Given the description of an element on the screen output the (x, y) to click on. 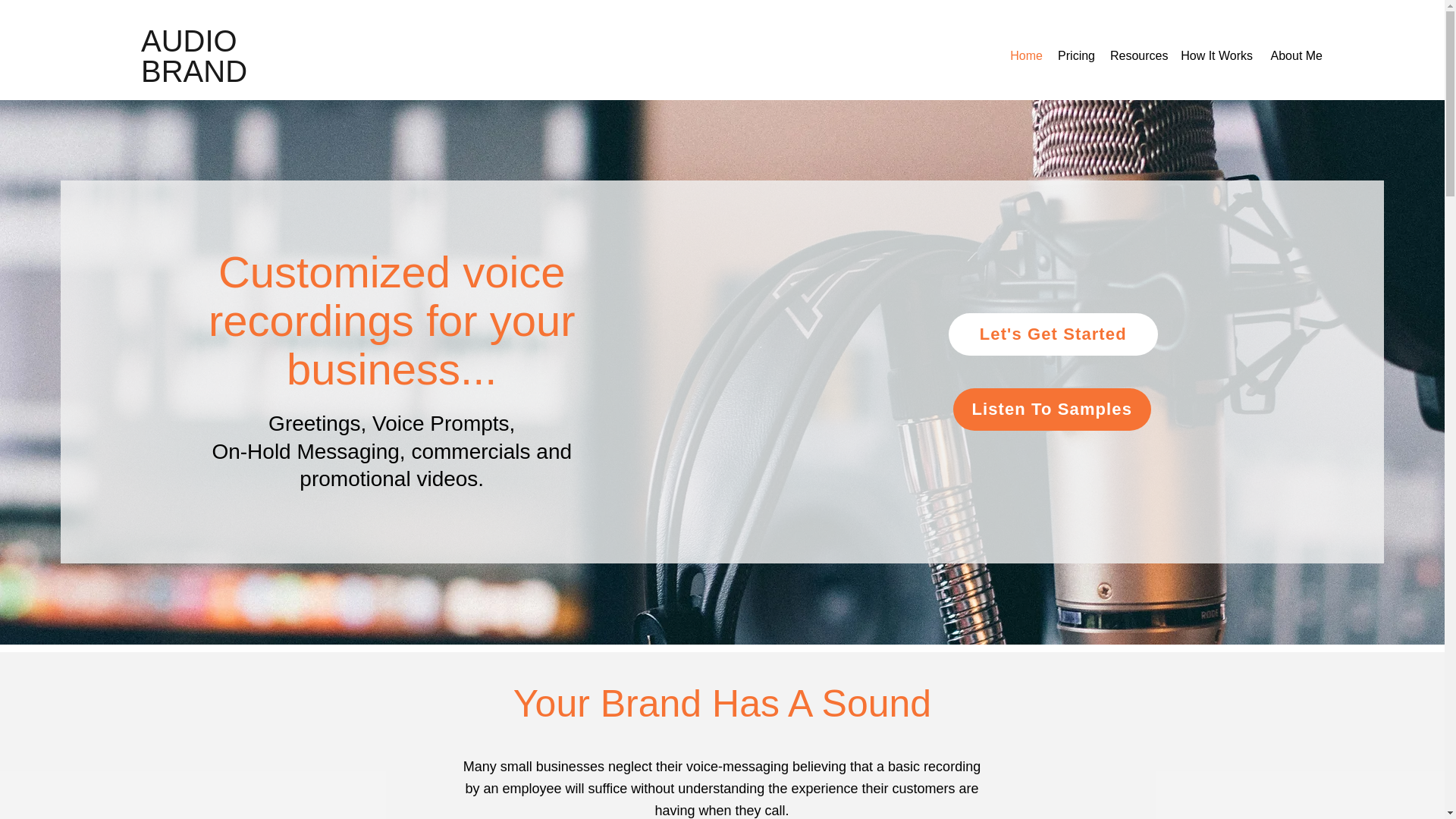
Home (1025, 56)
Let's Get Started (1053, 333)
AUDIO BRAND (194, 55)
Pricing (1075, 56)
About Me (1295, 56)
How It Works (1216, 56)
Listen To Samples (1052, 409)
